Given the description of an element on the screen output the (x, y) to click on. 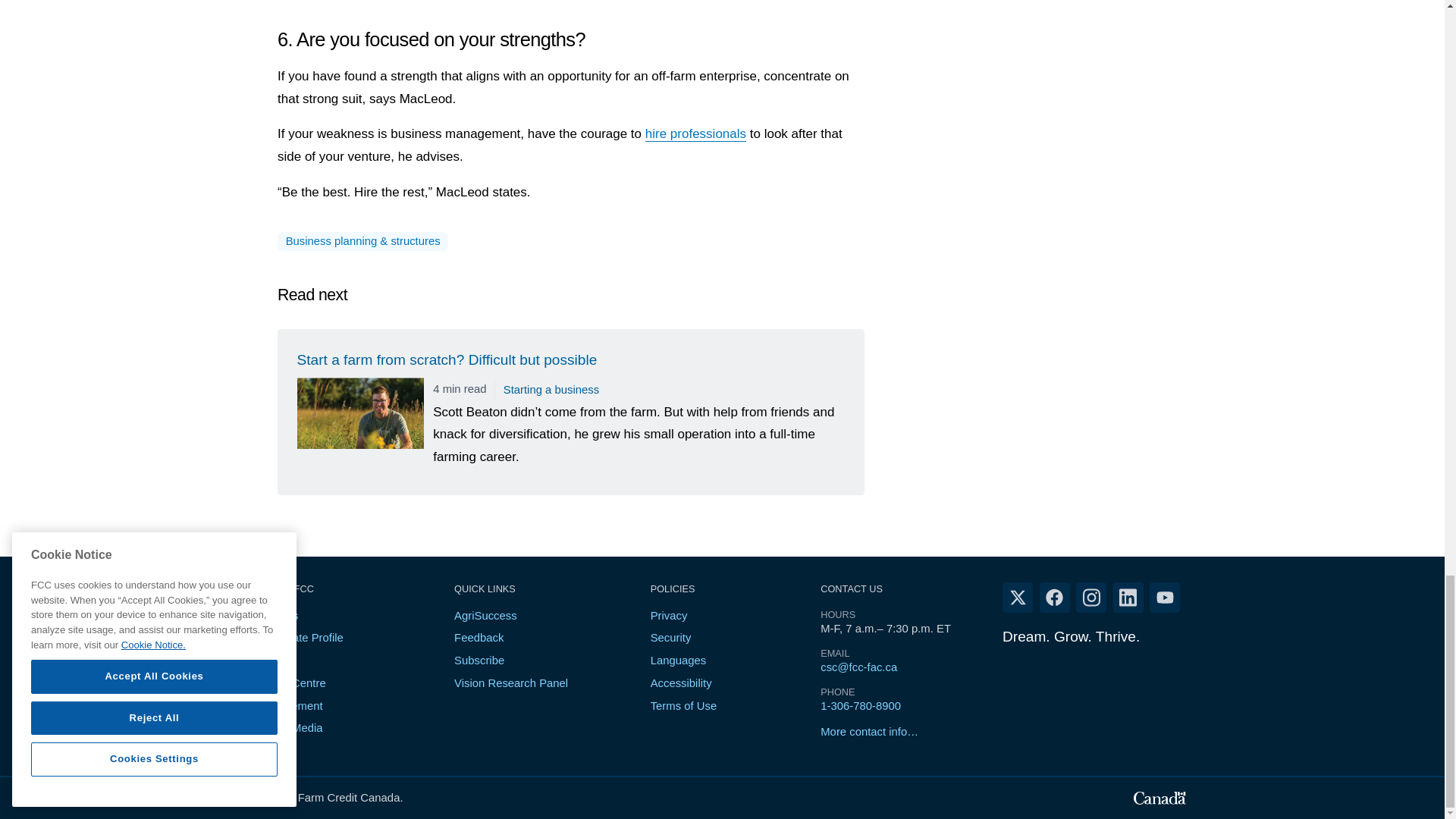
Starting a business (550, 389)
Privacy (668, 615)
Media Centre (290, 683)
Social Media (289, 727)
Vision Research Panel (510, 683)
Start a farm from scratch? Difficult but possible (571, 410)
Feedback (478, 637)
ESG (269, 660)
Subscribe (478, 660)
Careers (277, 615)
